Given the description of an element on the screen output the (x, y) to click on. 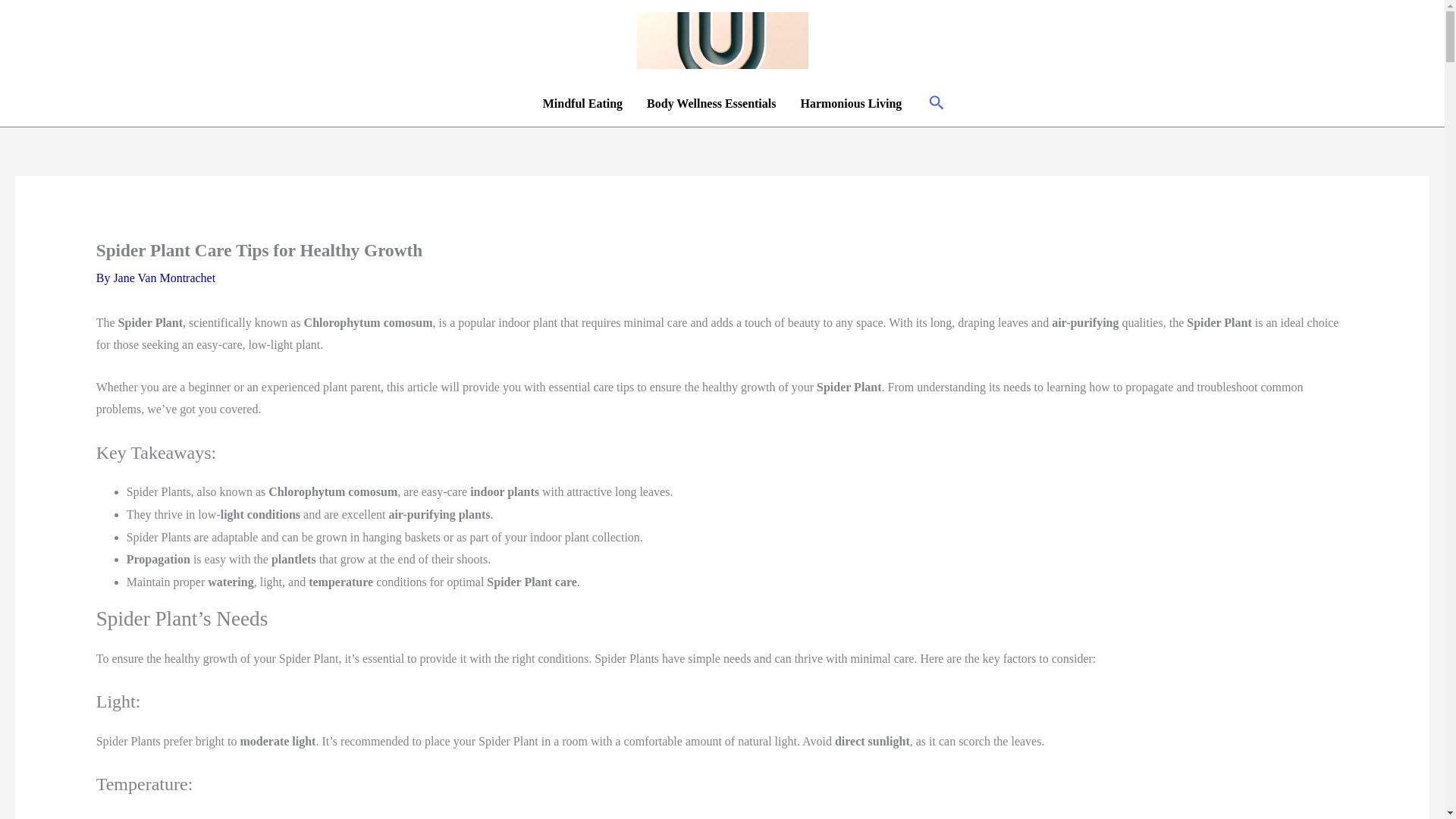
Mindful Eating (582, 103)
Body Wellness Essentials (710, 103)
Search (936, 104)
Jane Van Montrachet (164, 277)
Harmonious Living (850, 103)
View all posts by Jane Van Montrachet (164, 277)
